Given the description of an element on the screen output the (x, y) to click on. 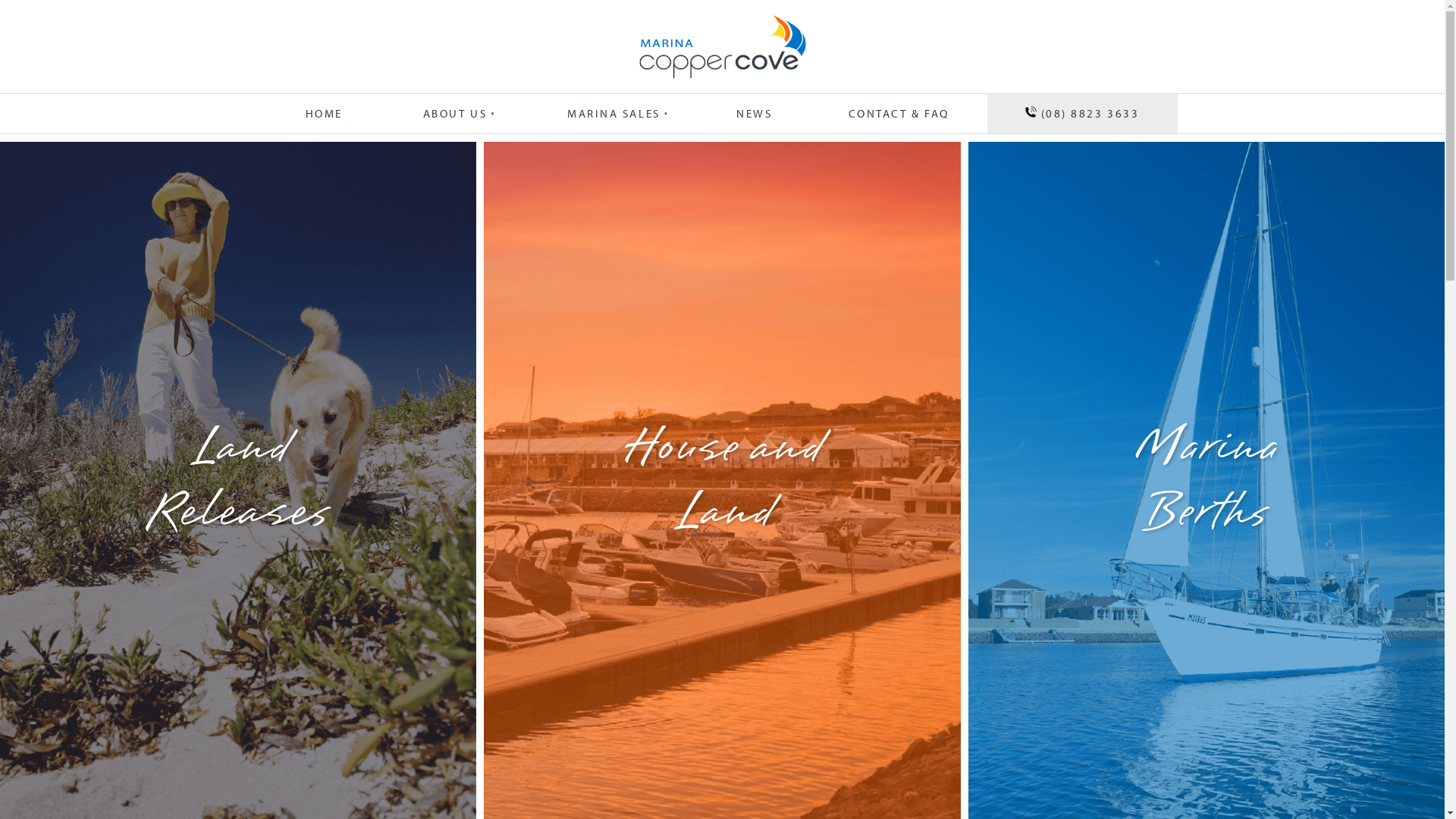
HOME Element type: text (323, 114)
NEWS Element type: text (754, 114)
(08) 8823 3633 Element type: text (1082, 114)
CONTACT & FAQ Element type: text (898, 114)
ABOUT US Element type: text (452, 114)
MARINA SALES Element type: text (611, 114)
